Given the description of an element on the screen output the (x, y) to click on. 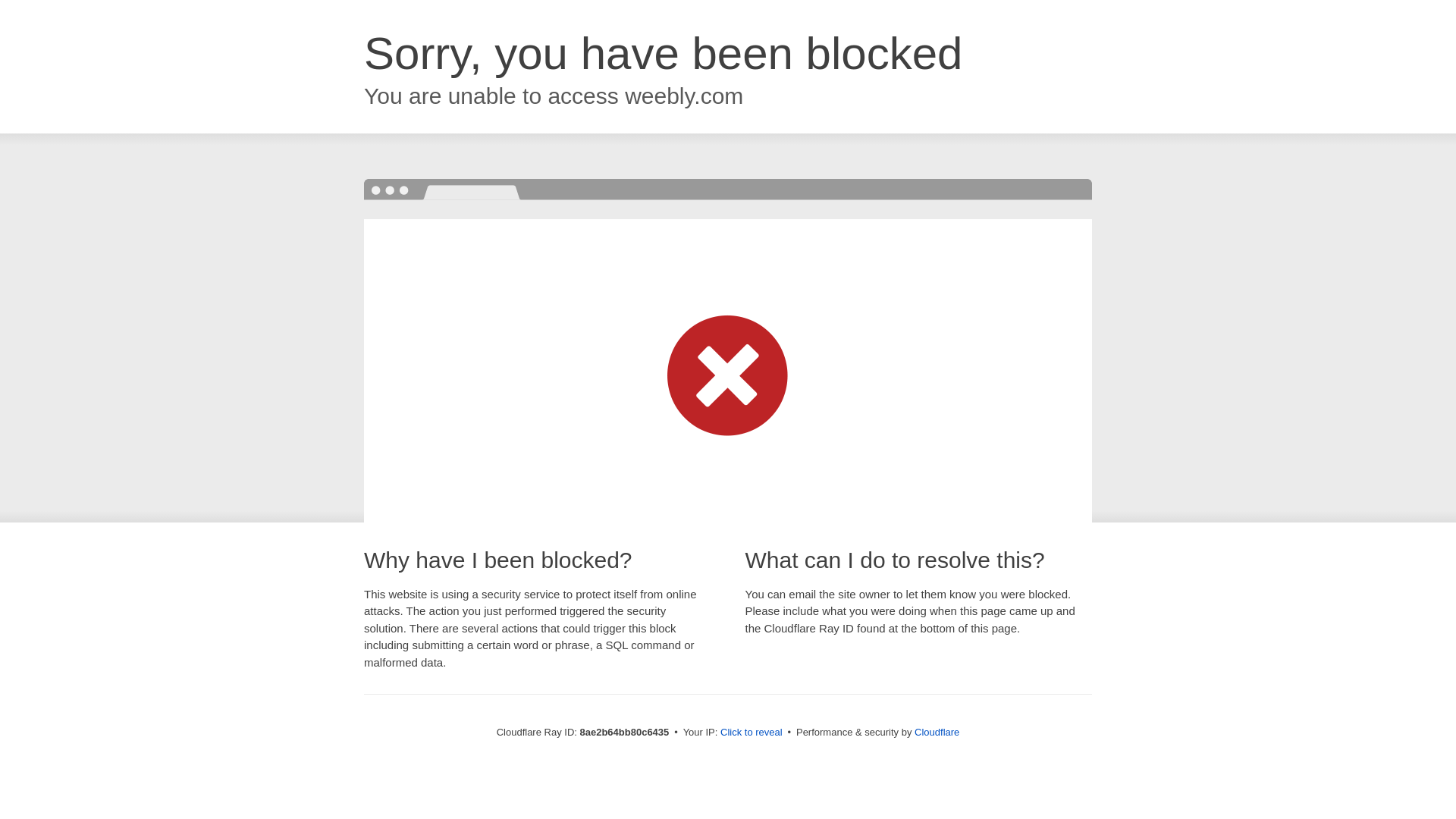
Click to reveal (751, 732)
Cloudflare (936, 731)
